Given the description of an element on the screen output the (x, y) to click on. 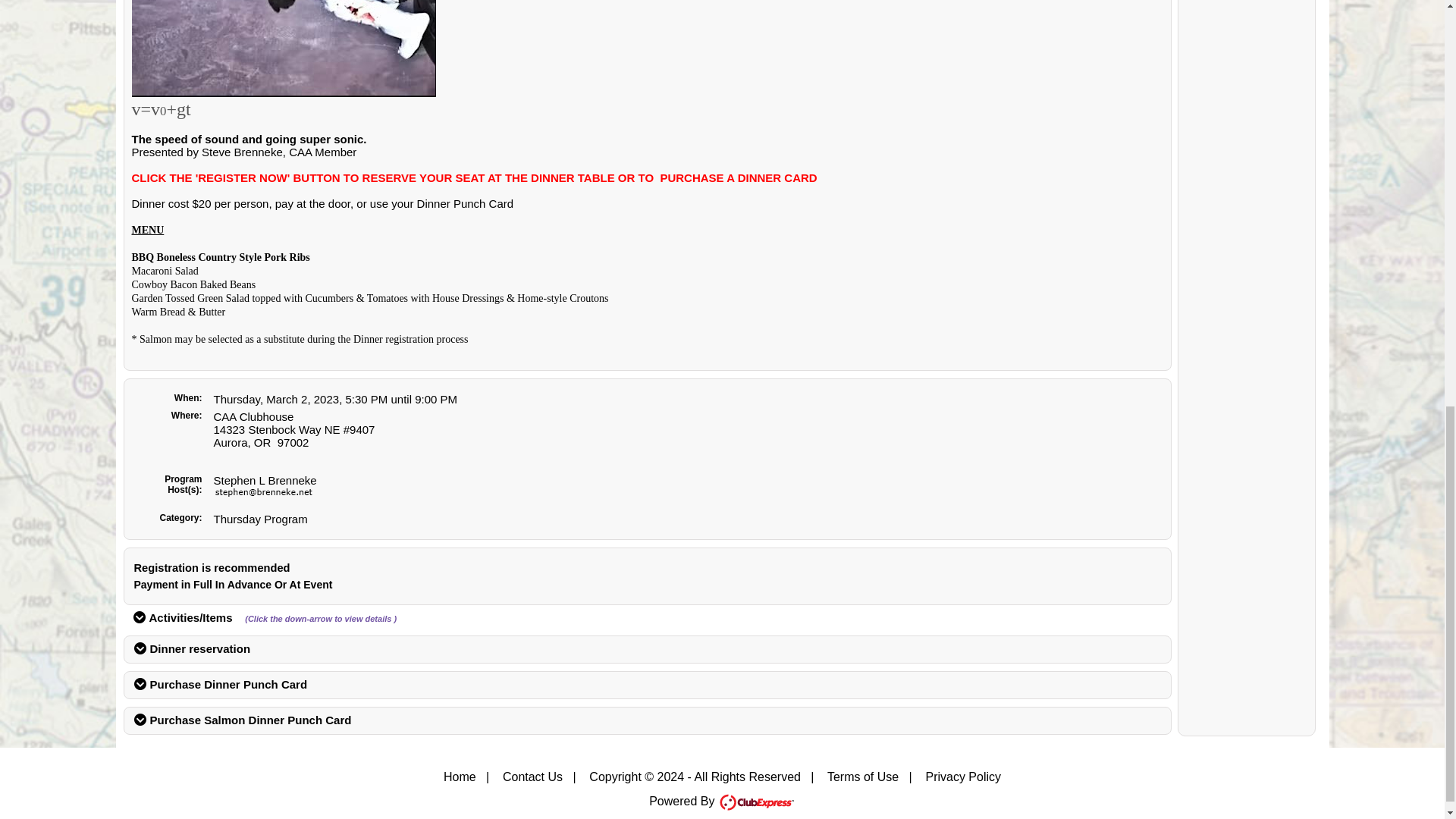
Show Details (139, 684)
Home (460, 776)
Show Details (139, 719)
Show Details (139, 648)
Show All Details (139, 616)
